Given the description of an element on the screen output the (x, y) to click on. 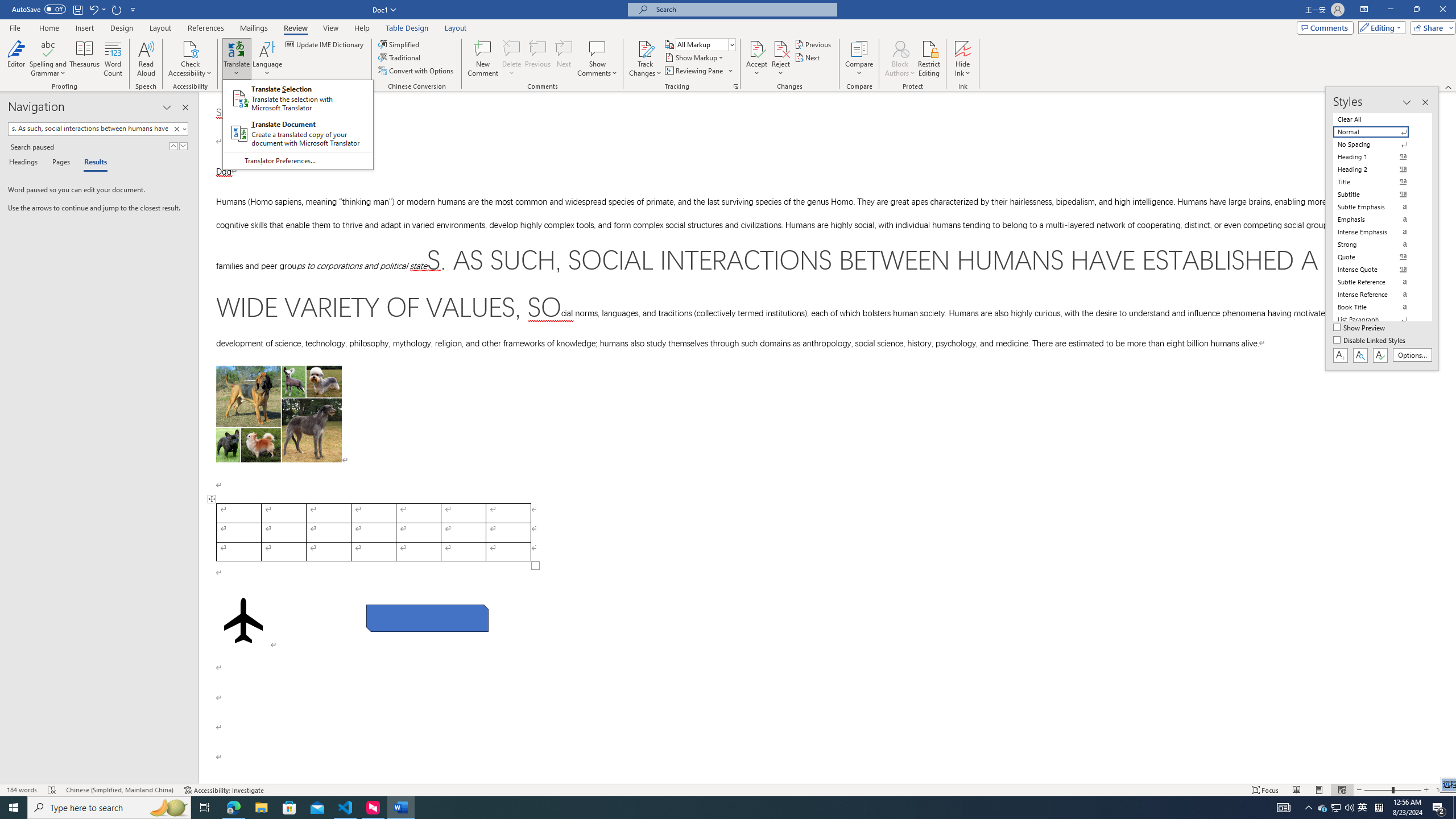
Track Changes (644, 58)
Microsoft Store (289, 807)
Accept and Move to Next (756, 48)
Quote (1377, 256)
Options... (1412, 354)
Heading 1 (1377, 156)
Intense Emphasis (1377, 232)
Check Accessibility (189, 58)
Next (808, 56)
